Given the description of an element on the screen output the (x, y) to click on. 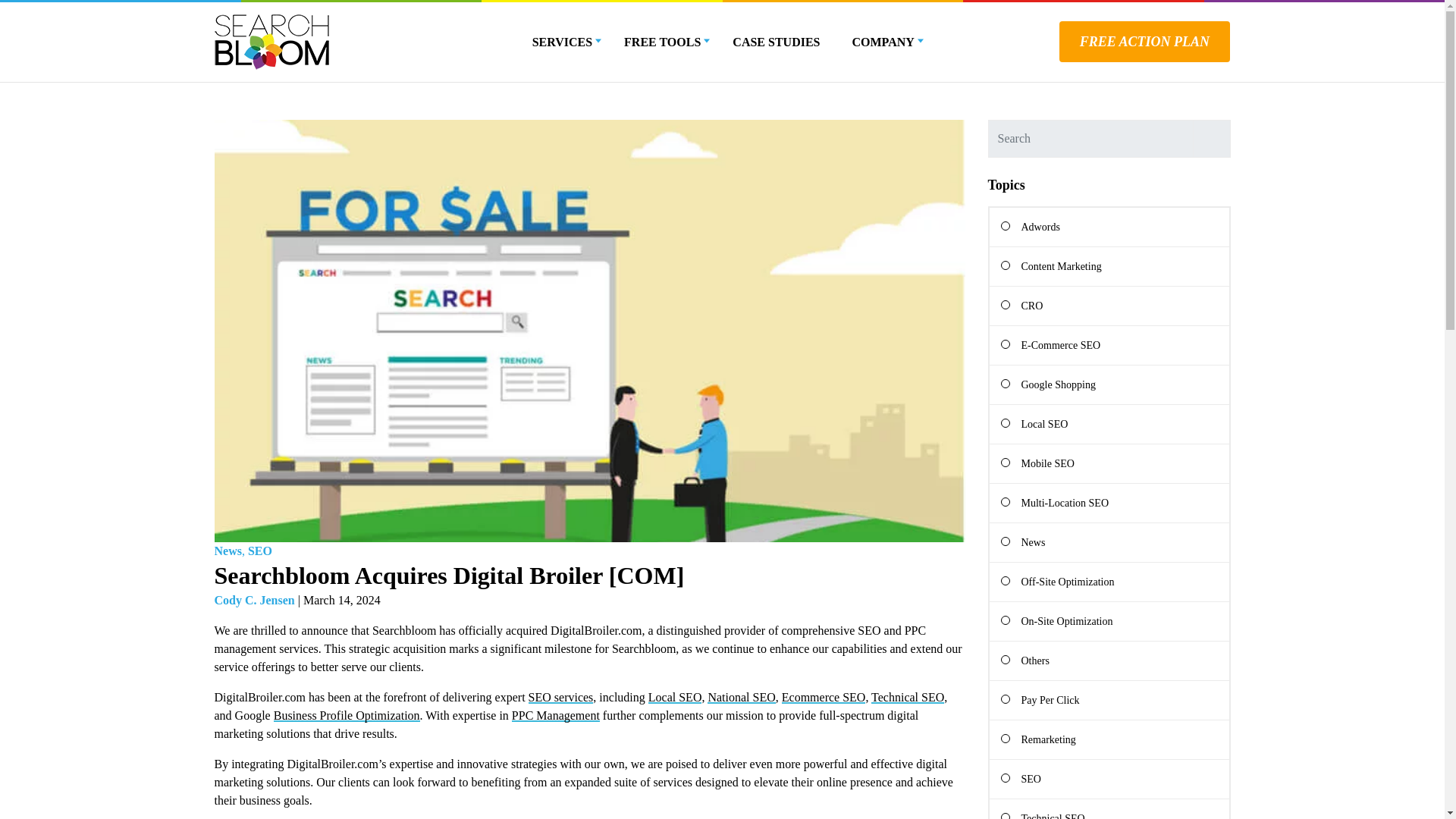
Cody C. Jensen (254, 599)
SEO services (561, 697)
FREE ACTION PLAN (1144, 41)
FREE TOOLS (662, 41)
News (230, 550)
SERVICES (562, 41)
CASE STUDIES (775, 41)
COMPANY (882, 41)
SEO (259, 550)
